Given the description of an element on the screen output the (x, y) to click on. 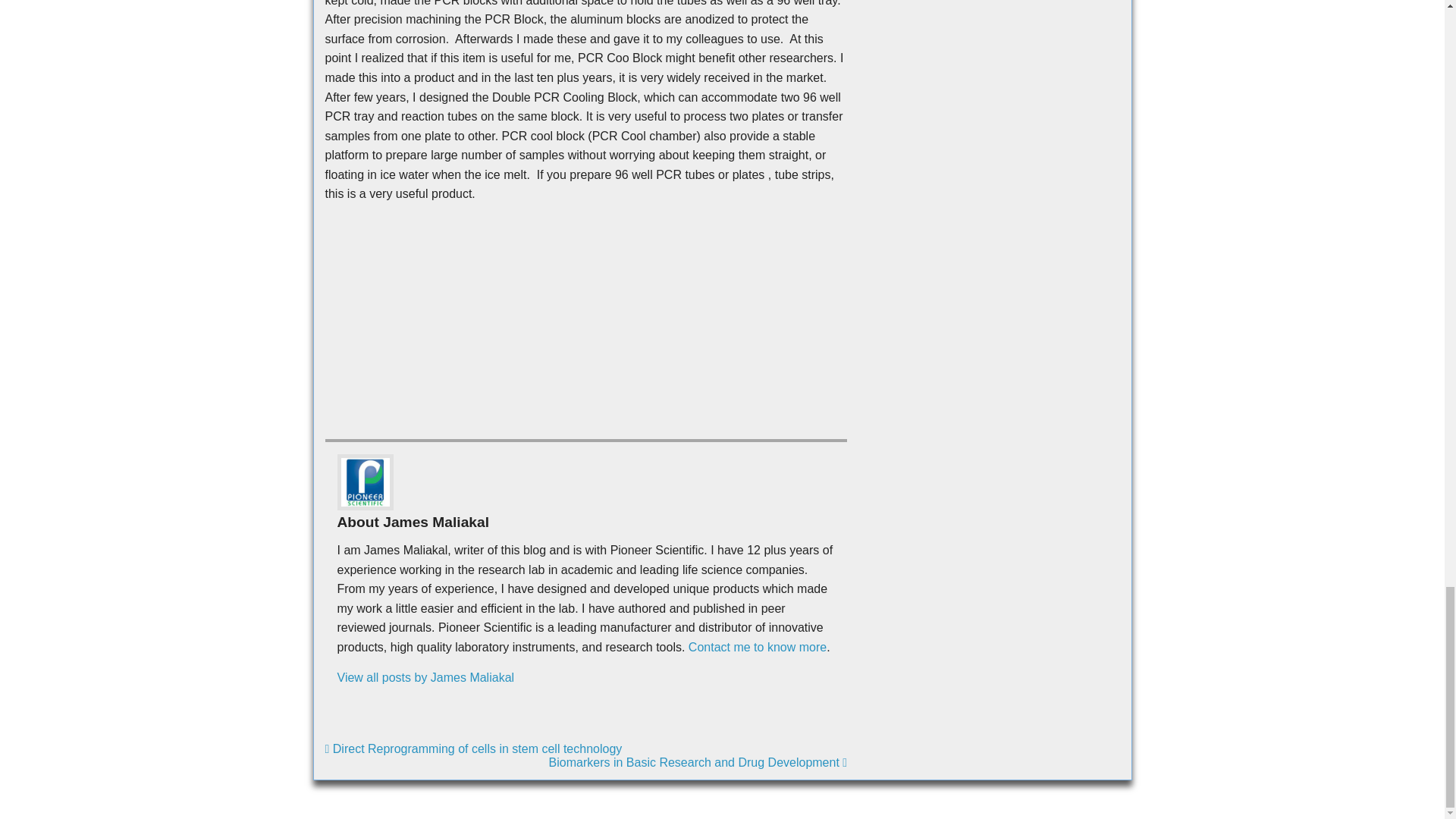
Direct Reprogramming of cells in stem cell technology (472, 748)
View all posts by James Maliakal (424, 676)
Biomarkers in Basic Research and Drug Development (697, 762)
Contact me to know more (757, 646)
